Given the description of an element on the screen output the (x, y) to click on. 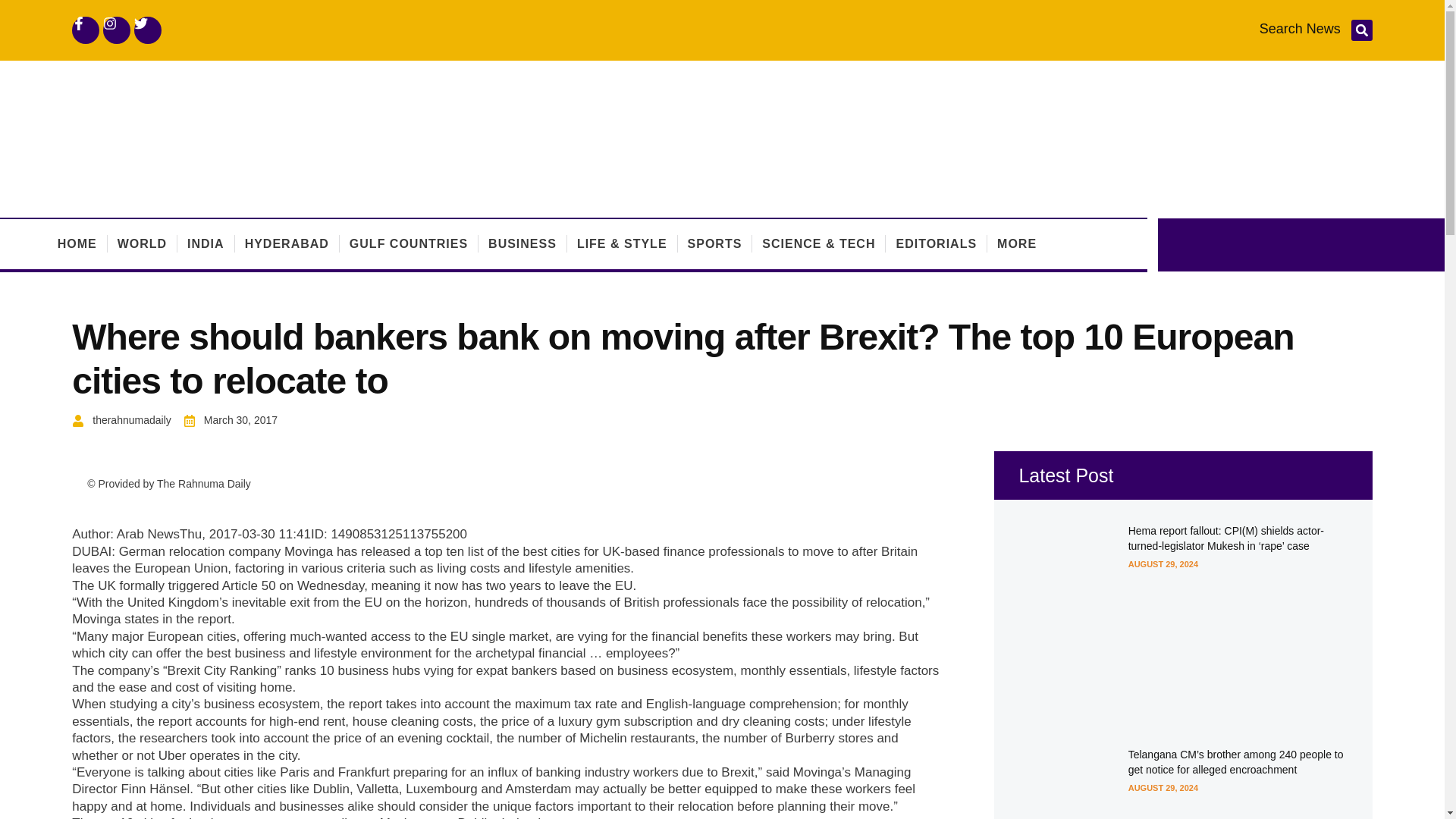
GULF COUNTRIES (408, 244)
HYDERABAD (286, 244)
WORLD (142, 244)
SPORTS (714, 244)
therahnumadaily (121, 420)
March 30, 2017 (230, 420)
BUSINESS (521, 244)
EDITORIALS (935, 244)
